Given the description of an element on the screen output the (x, y) to click on. 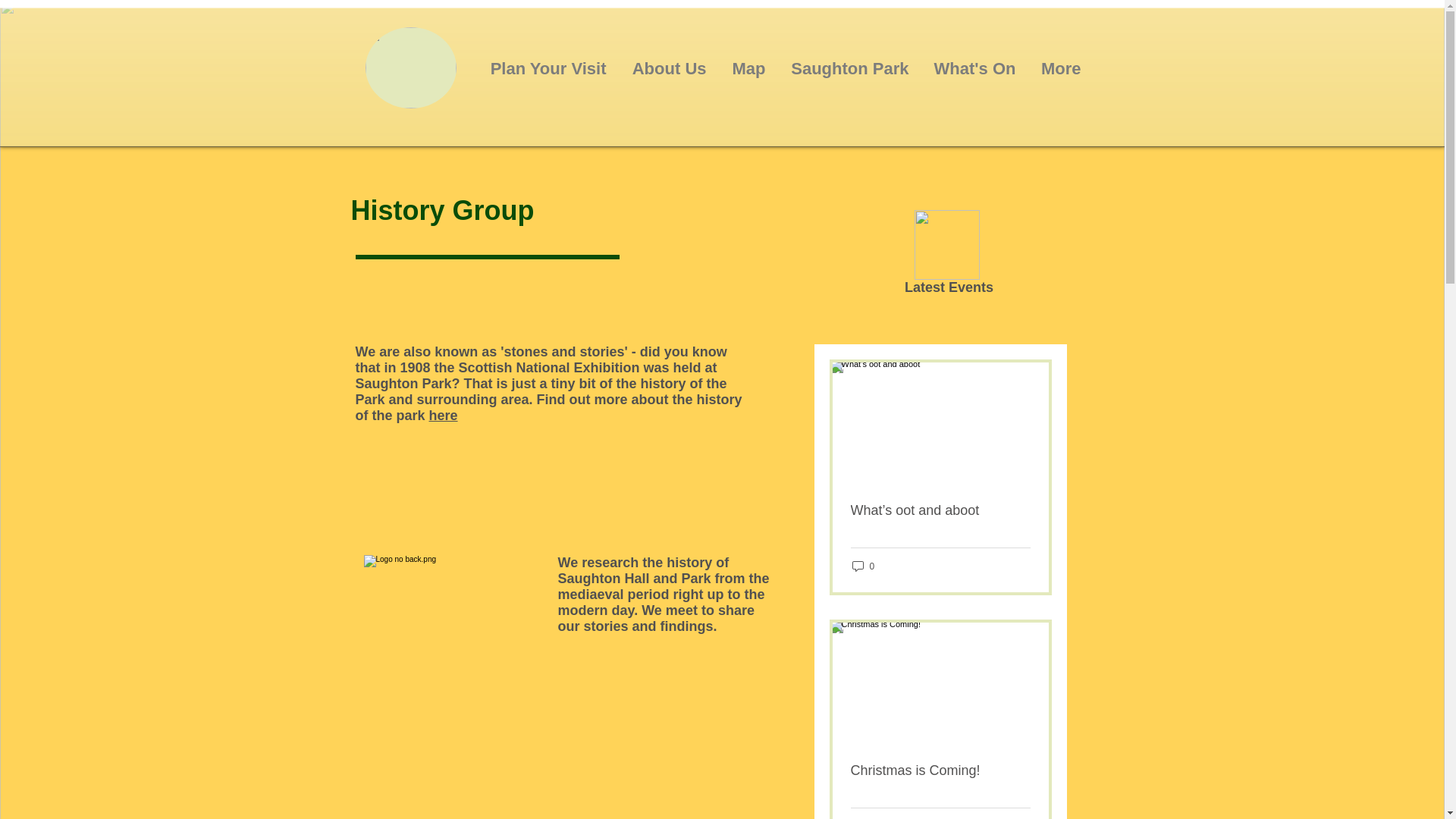
0 (863, 565)
What's On (973, 68)
Plan Your Visit (546, 68)
Map (746, 68)
About Us (667, 68)
here (443, 415)
Christmas is Coming! (940, 770)
Saughton Park (848, 68)
